Given the description of an element on the screen output the (x, y) to click on. 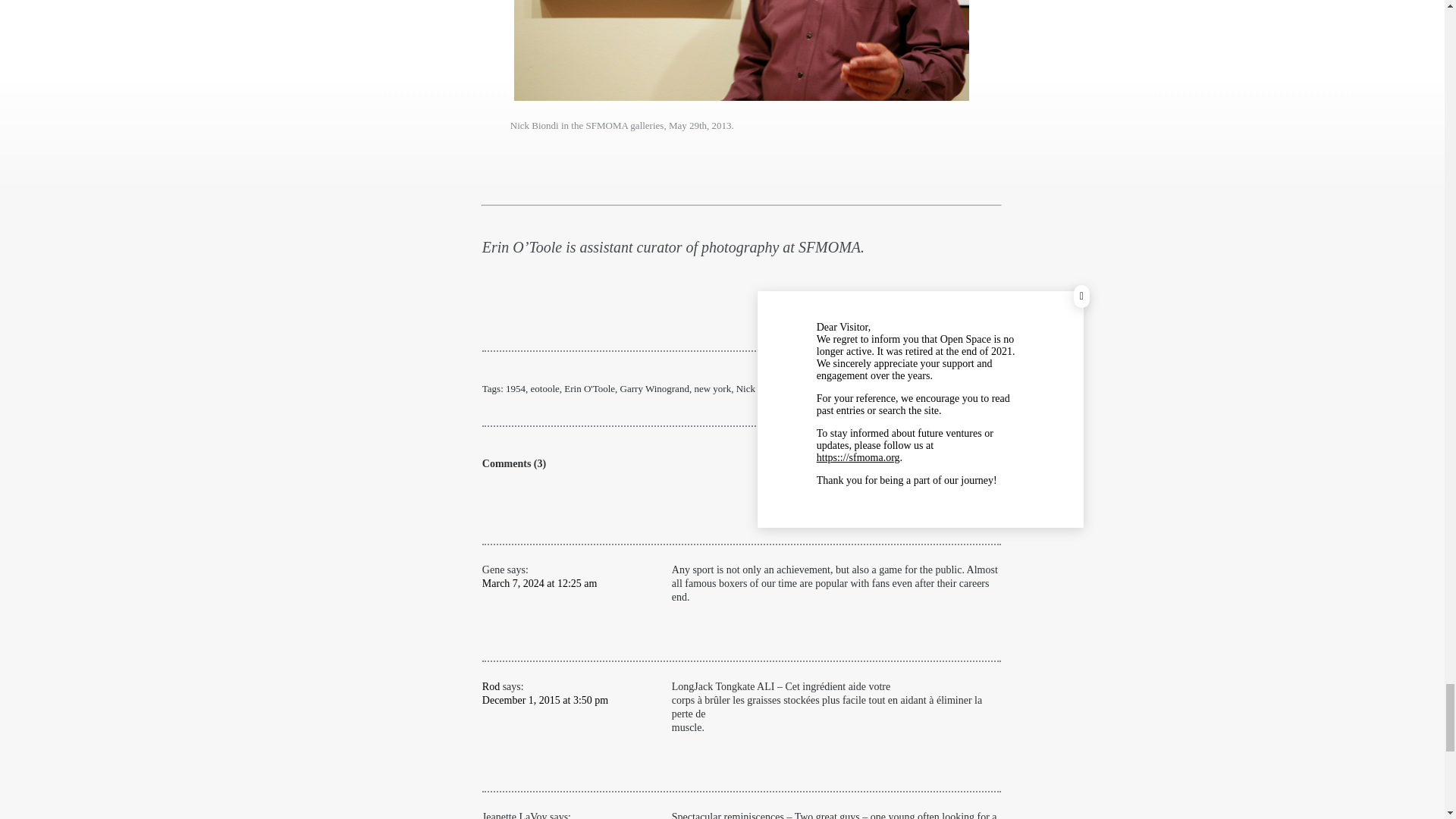
The Boxer (810, 388)
eotoole (545, 388)
Rod (490, 686)
new york (712, 388)
December 1, 2015 at 3:50 pm (544, 699)
1954 (515, 388)
Garry Winogrand (654, 388)
Erin O'Toole (589, 388)
Nick Biondi (760, 388)
March 7, 2024 at 12:25 am (538, 583)
